Given the description of an element on the screen output the (x, y) to click on. 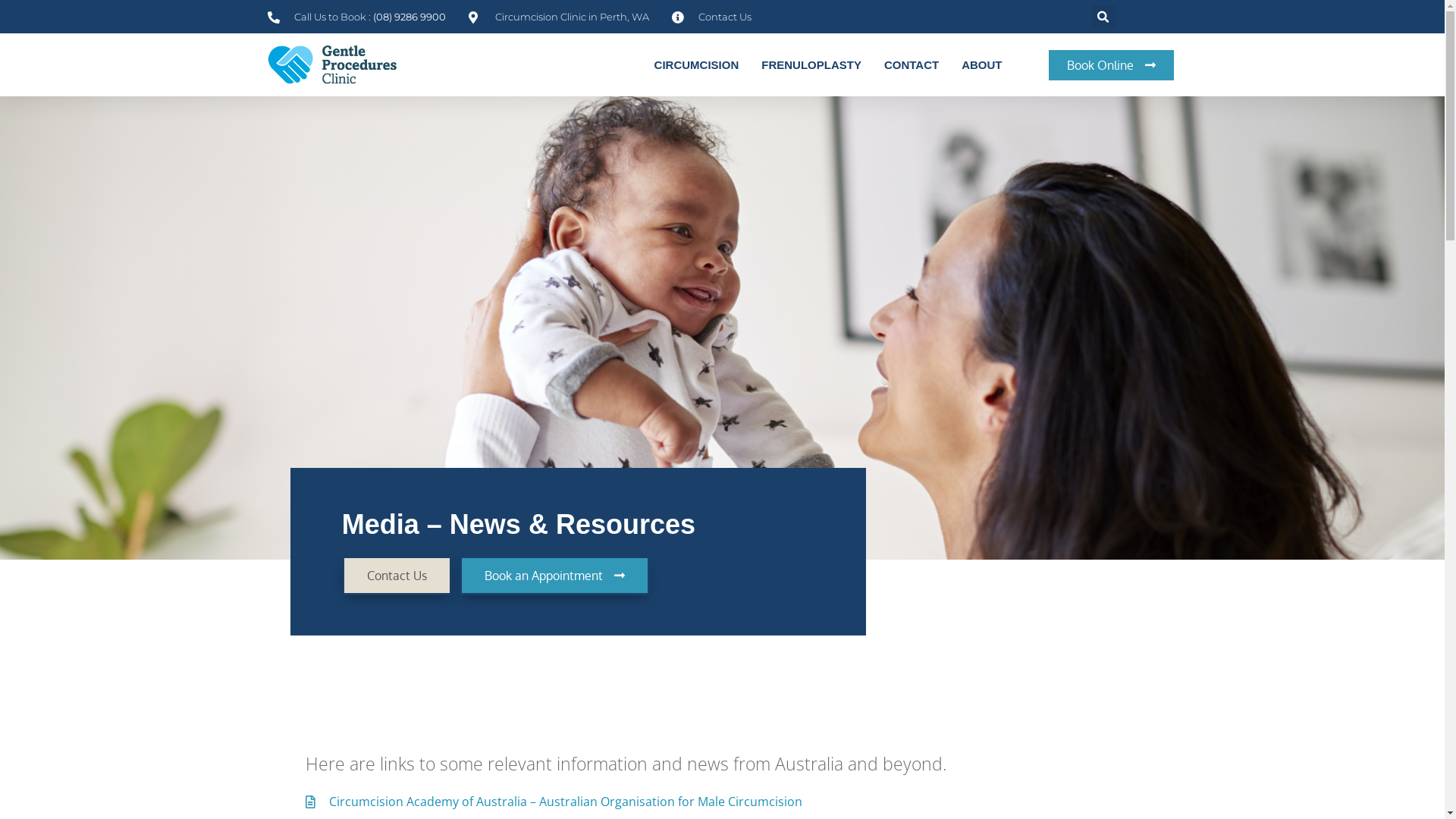
Contact Us Element type: text (711, 16)
Contact Us Element type: text (396, 575)
Book an Appointment Element type: text (554, 575)
CONTACT Element type: text (911, 64)
Book Online Element type: text (1110, 65)
FRENULOPLASTY Element type: text (810, 64)
Call Us to Book : (08) 9286 9900 Element type: text (355, 16)
ABOUT Element type: text (981, 64)
CIRCUMCISION Element type: text (696, 64)
Circumcision Clinic in Perth, WA Element type: text (558, 16)
